Given the description of an element on the screen output the (x, y) to click on. 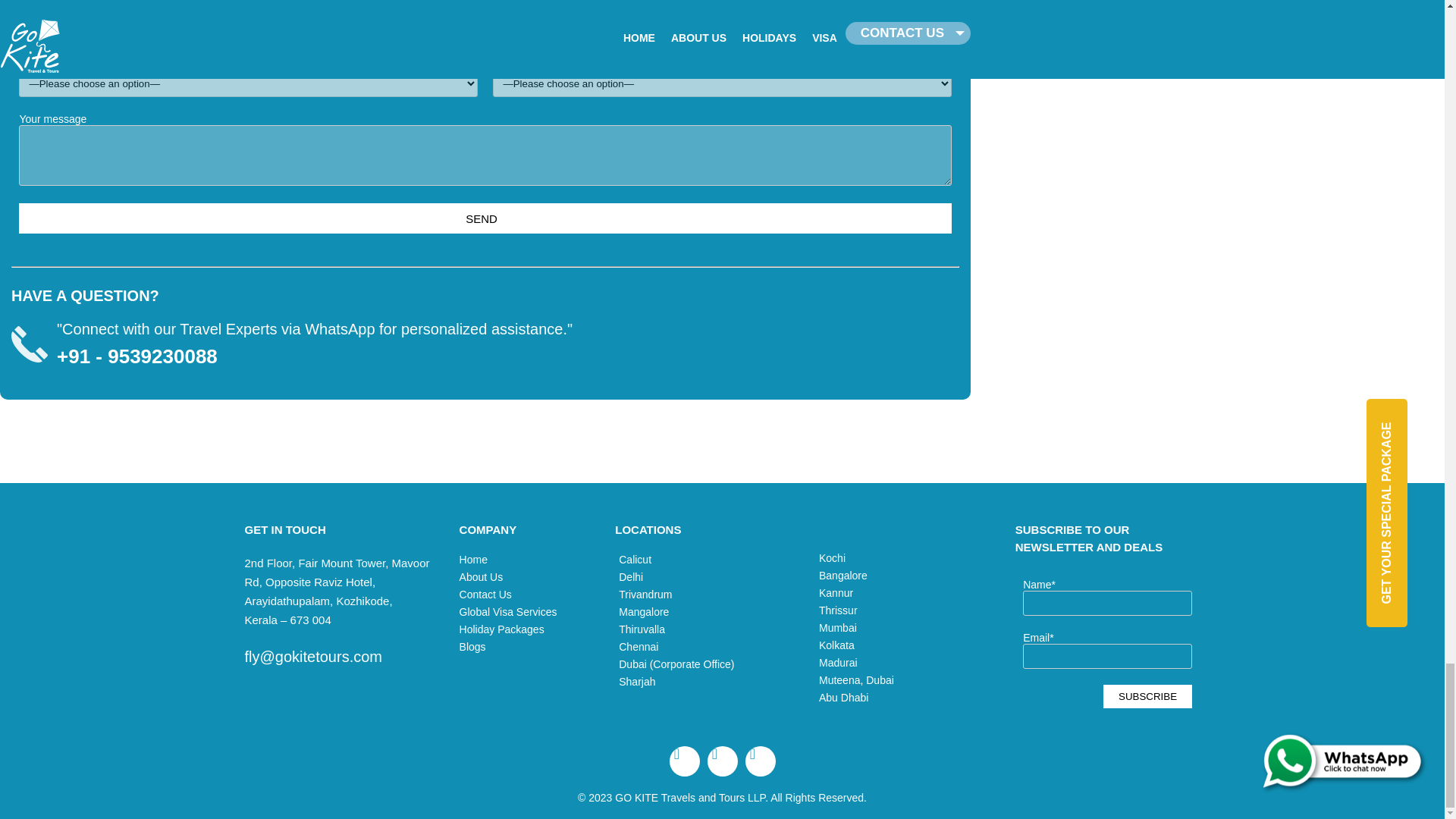
Send (484, 218)
Home (529, 559)
Subscribe (1147, 696)
Send (484, 218)
About Us (529, 576)
